Given the description of an element on the screen output the (x, y) to click on. 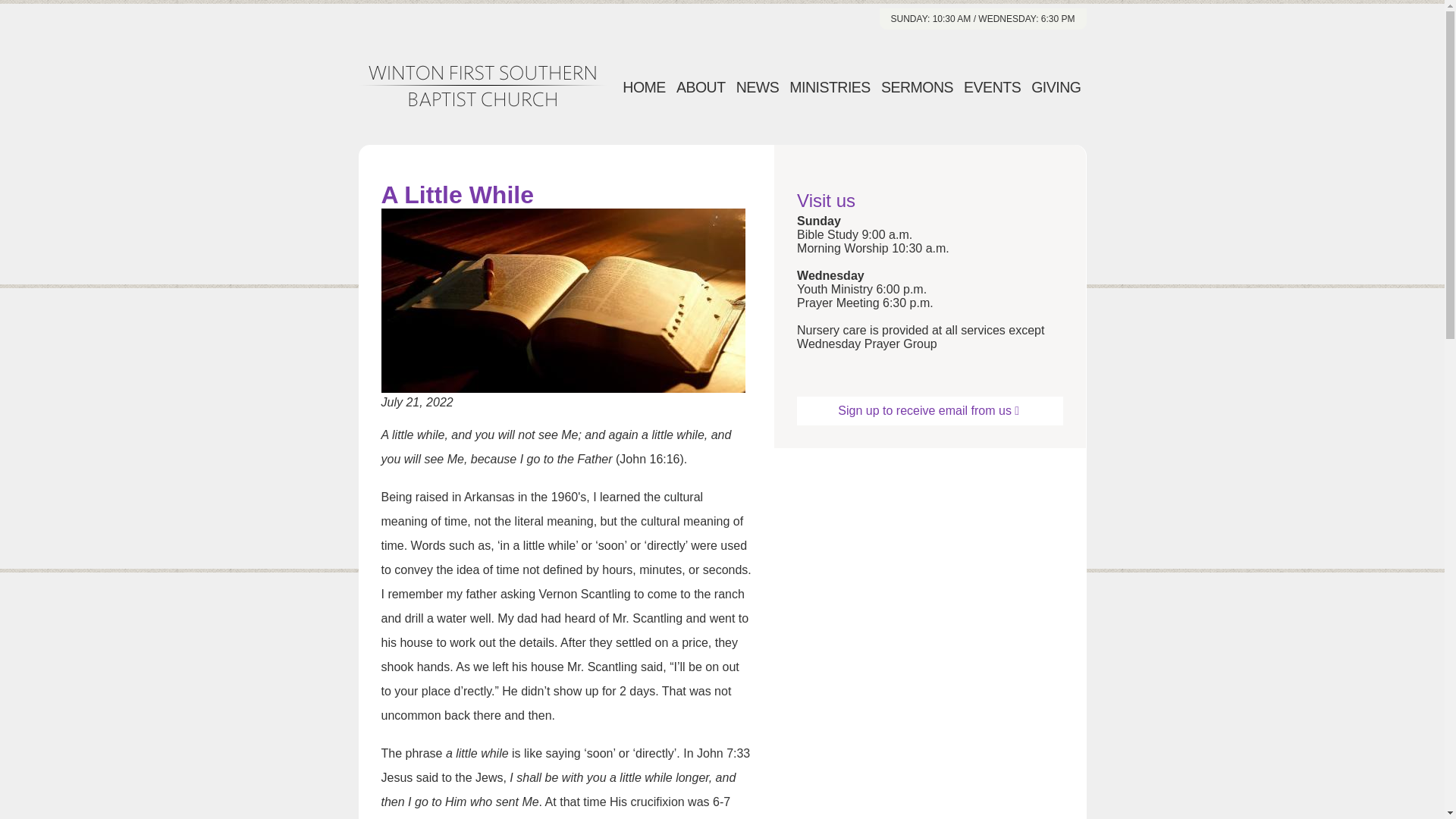
MINISTRIES (830, 87)
EVENTS (992, 87)
Online Donations (1056, 87)
ABOUT (700, 87)
GIVING (1056, 87)
Sign up to receive email from us   (929, 410)
HOME (644, 87)
NEWS (757, 87)
SERMONS (917, 87)
Home (481, 85)
